Given the description of an element on the screen output the (x, y) to click on. 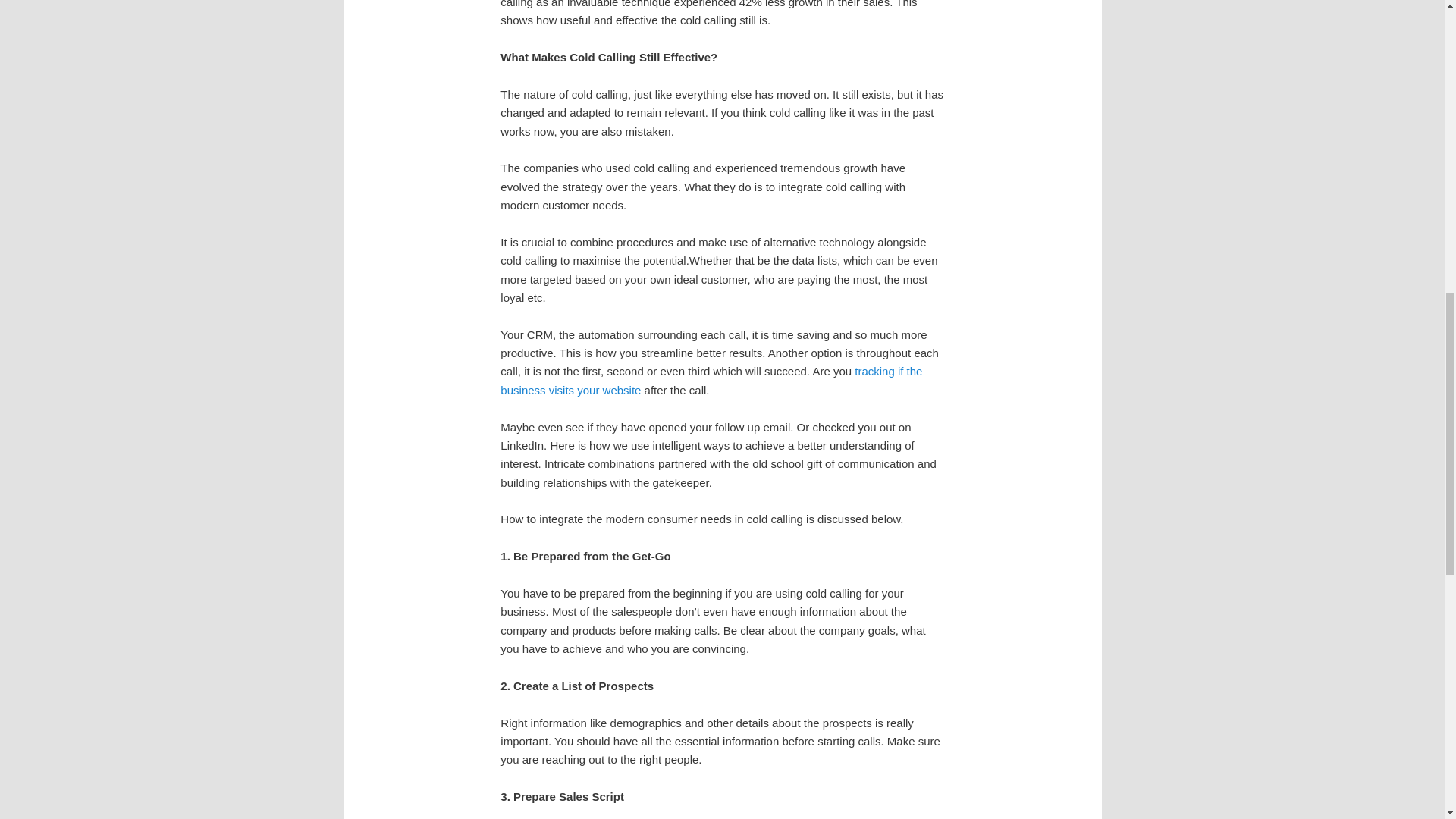
tracking if the business visits your website (710, 379)
